Given the description of an element on the screen output the (x, y) to click on. 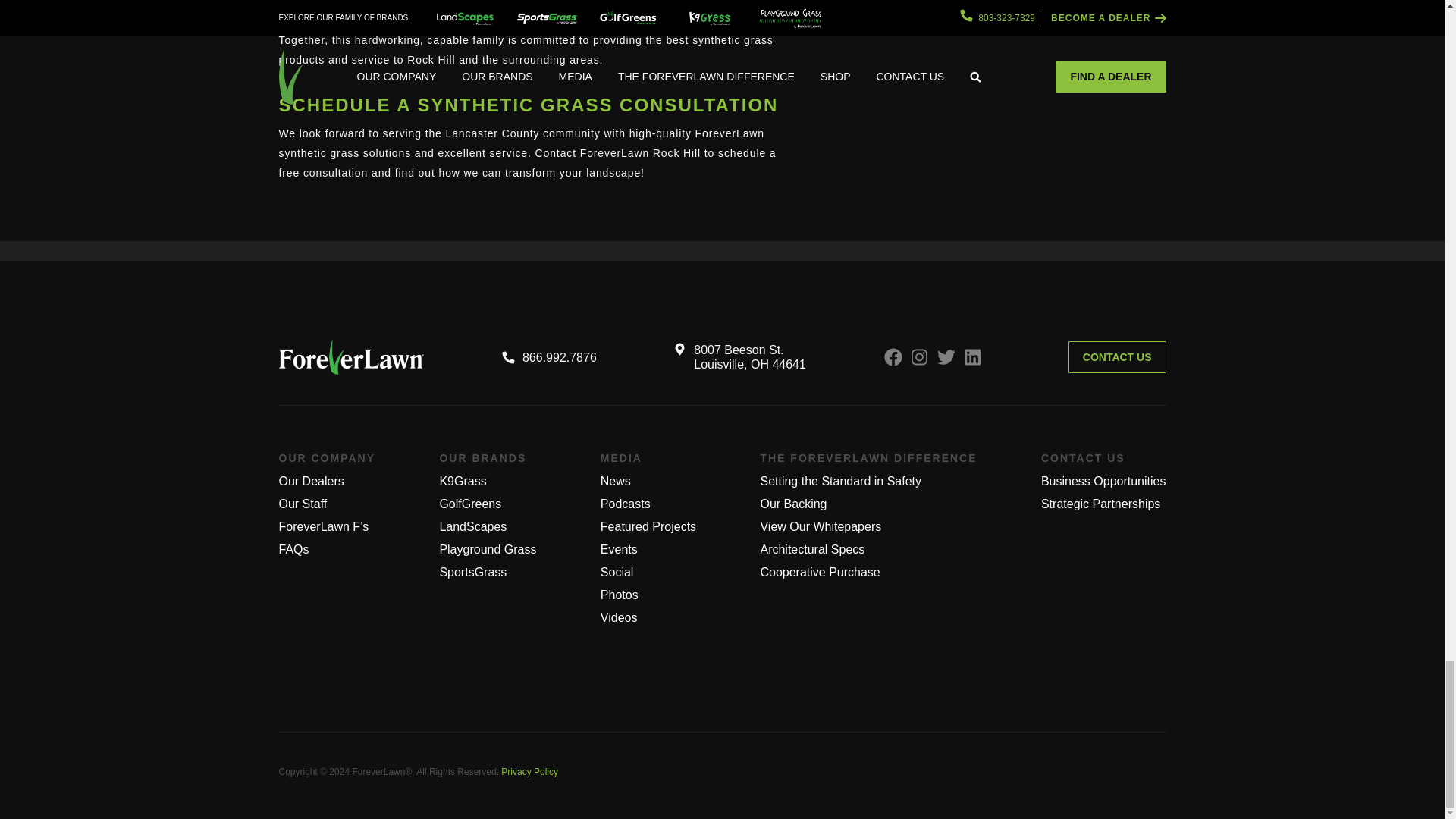
866.992.7876 (549, 357)
